Given the description of an element on the screen output the (x, y) to click on. 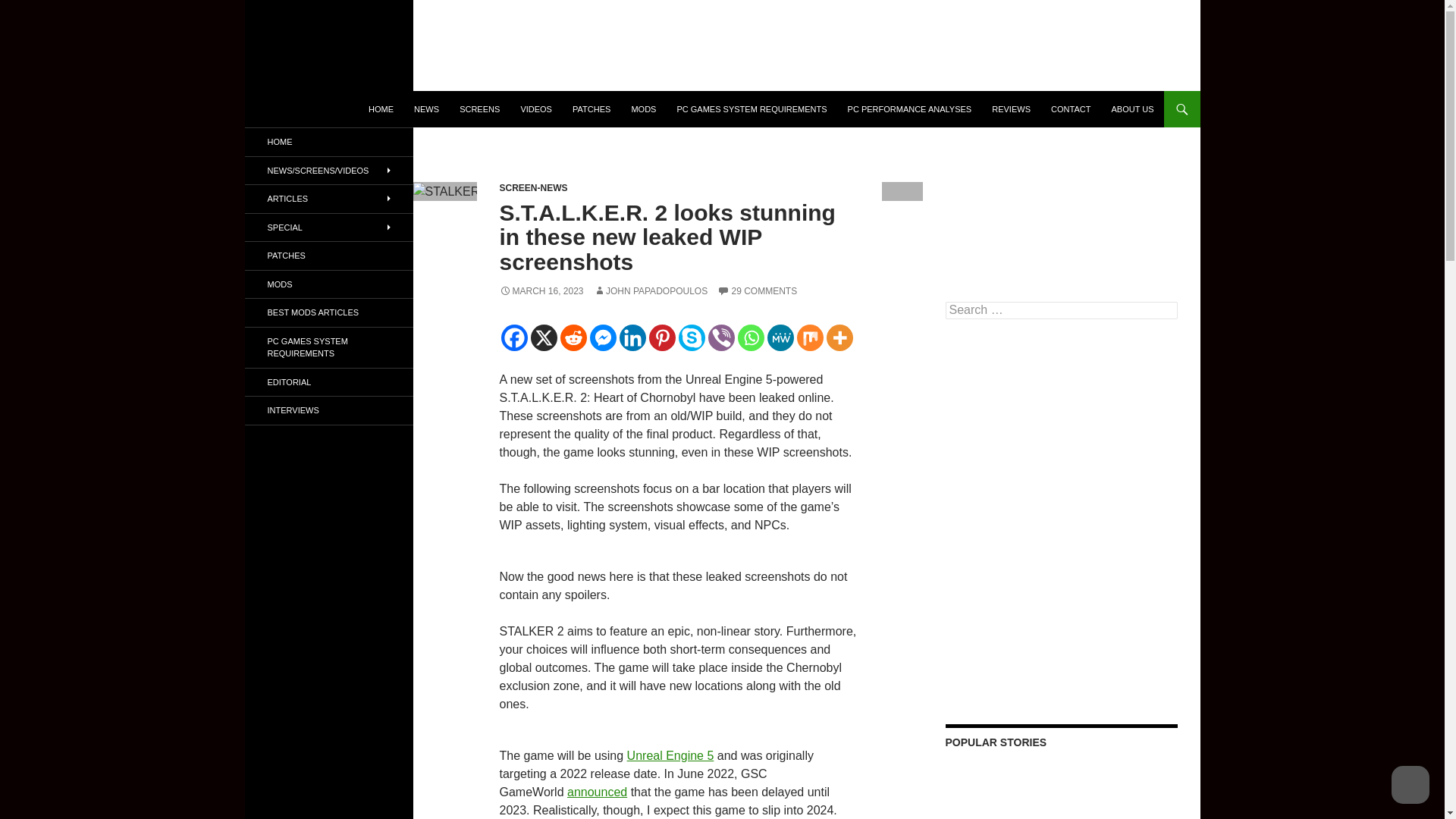
More (840, 337)
Linkedin (631, 337)
Skype (691, 337)
Reddit (572, 337)
MARCH 16, 2023 (541, 290)
MeWe (780, 337)
Facebook (513, 337)
REVIEWS (1010, 108)
HOME (381, 108)
CONTACT (1070, 108)
